Given the description of an element on the screen output the (x, y) to click on. 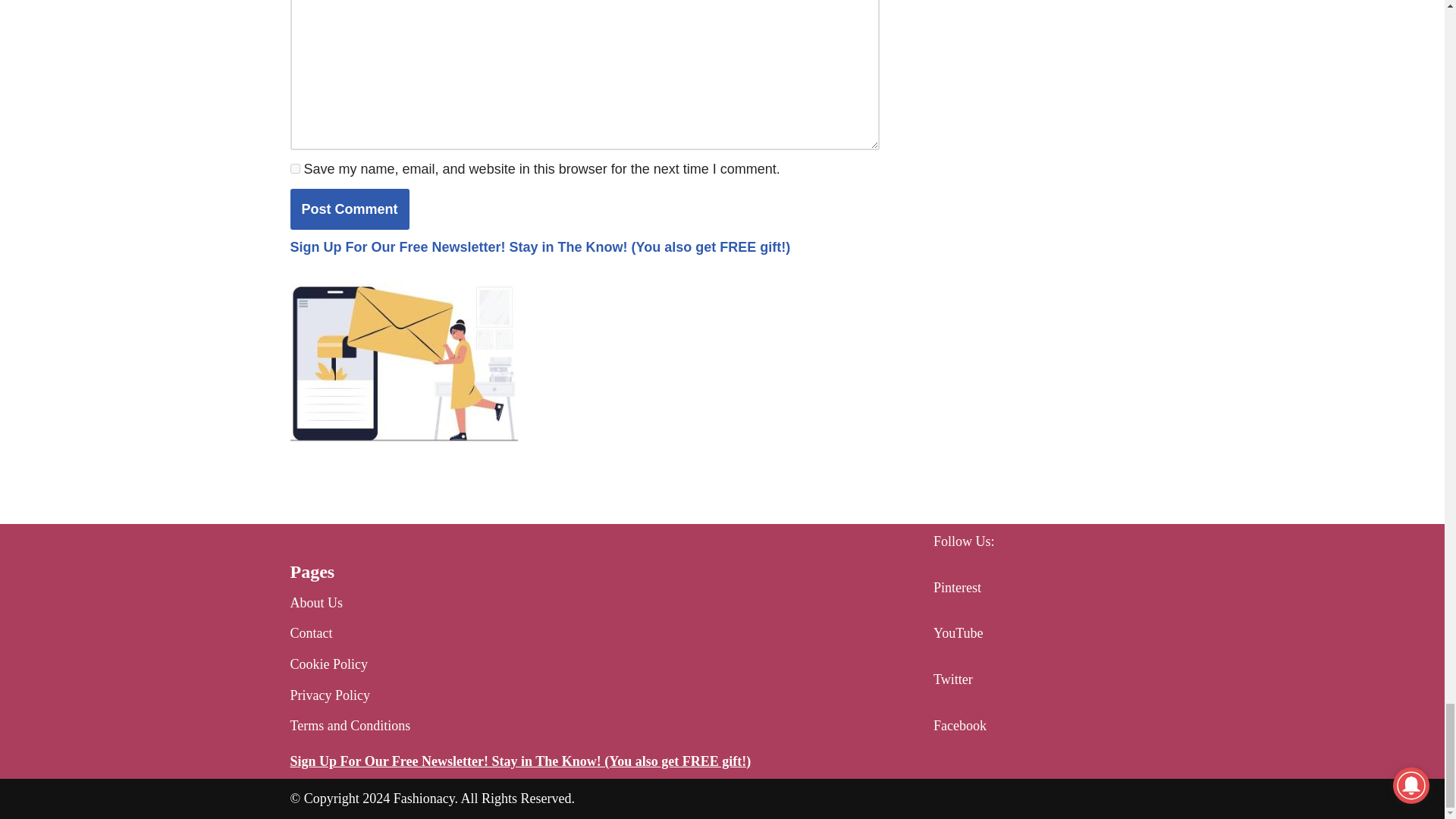
yes (294, 168)
Post Comment (349, 209)
